Given the description of an element on the screen output the (x, y) to click on. 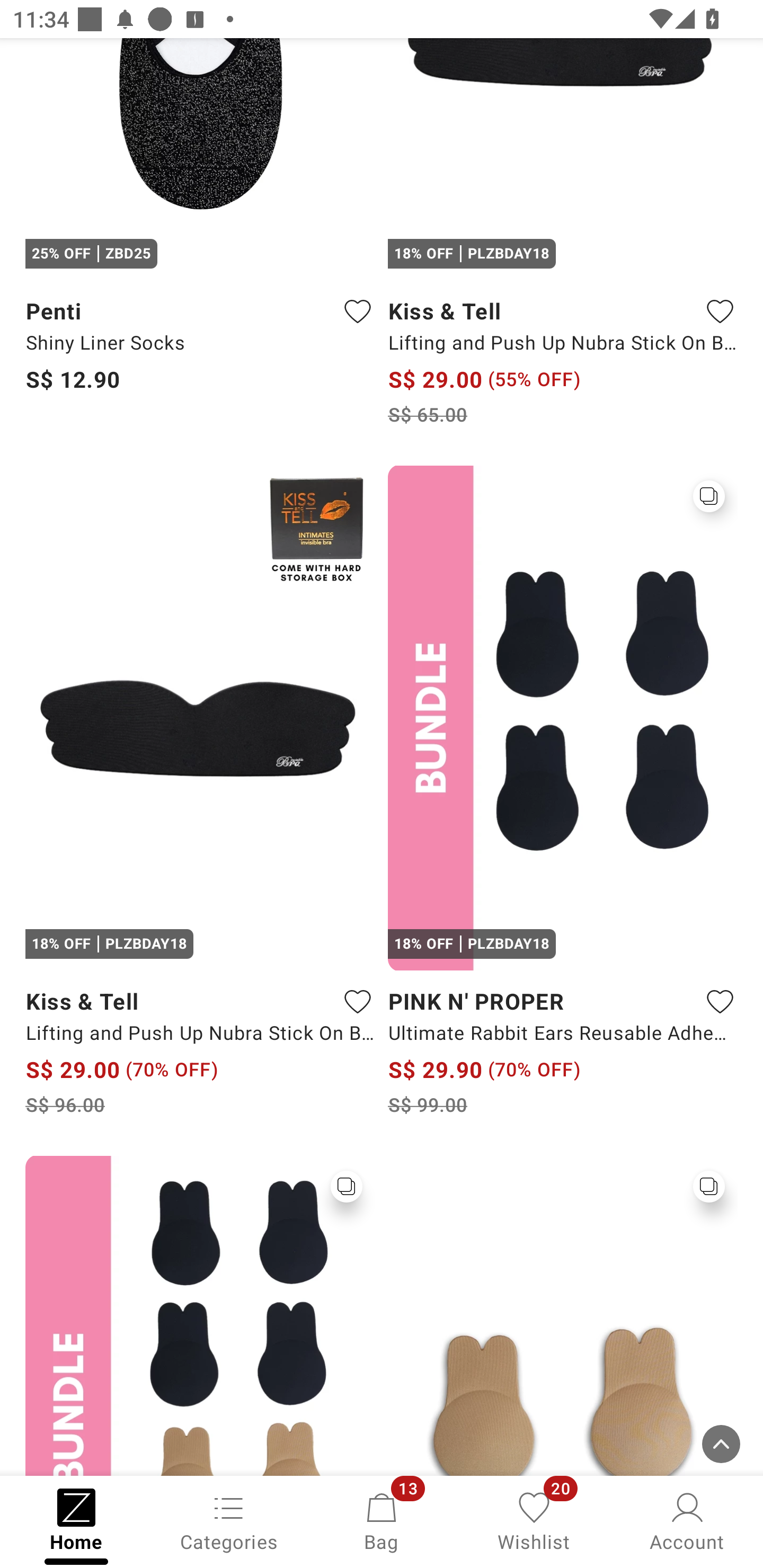
Categories (228, 1519)
Bag, 13 new notifications Bag (381, 1519)
Wishlist, 20 new notifications Wishlist (533, 1519)
Account (686, 1519)
